Given the description of an element on the screen output the (x, y) to click on. 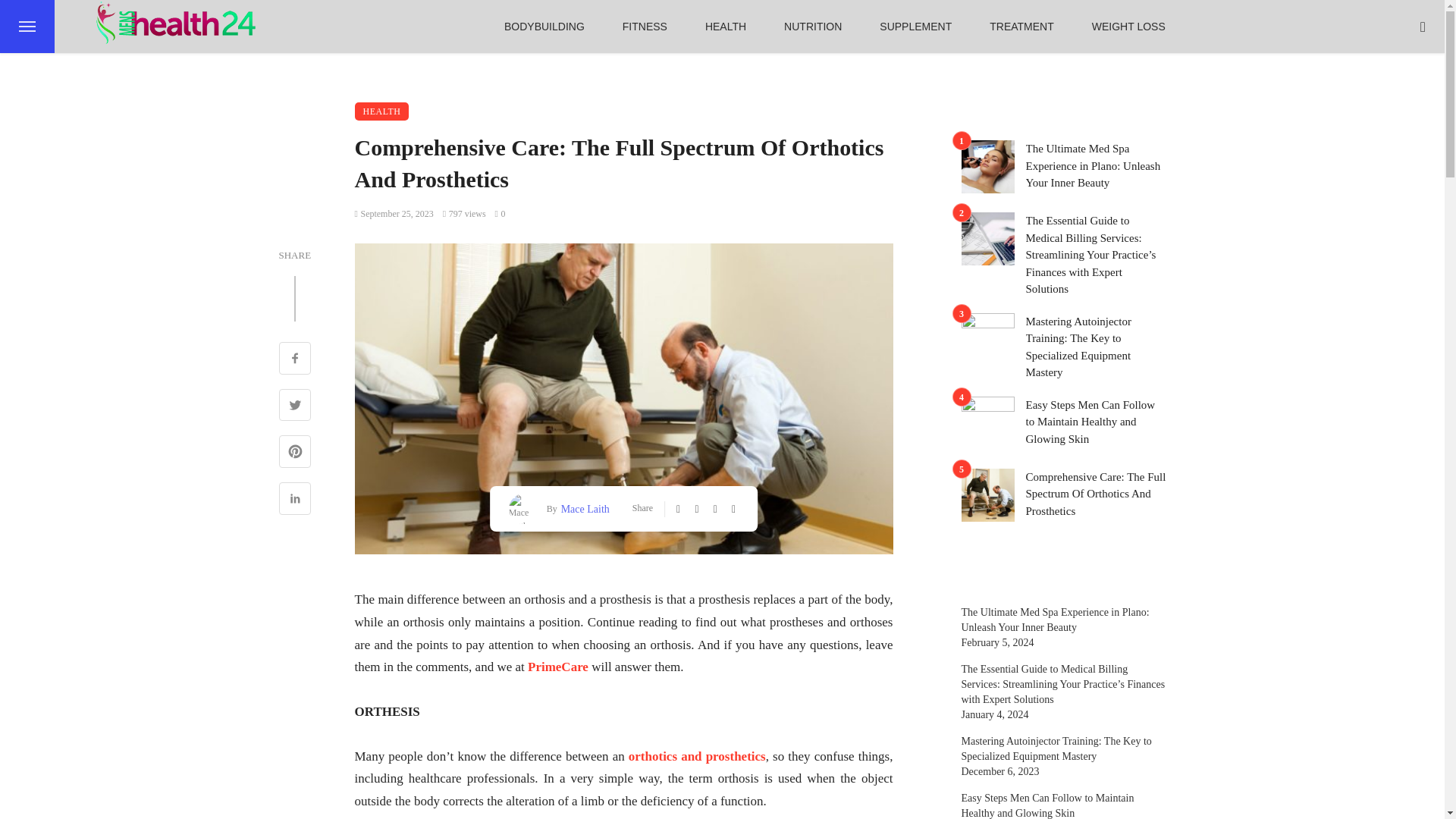
Share on Twitter (295, 407)
0 Comments (500, 213)
Share on Linkedin (295, 500)
Share on Pinterest (295, 452)
September 25, 2023 at 5:31 am (394, 213)
BODYBUILDING (544, 26)
TREATMENT (1022, 26)
FITNESS (644, 26)
Mace Laith (583, 508)
WEIGHT LOSS (1129, 26)
Share on Facebook (295, 360)
0 (500, 213)
Posts by Mace Laith (583, 508)
HEALTH (382, 111)
HEALTH (725, 26)
